Given the description of an element on the screen output the (x, y) to click on. 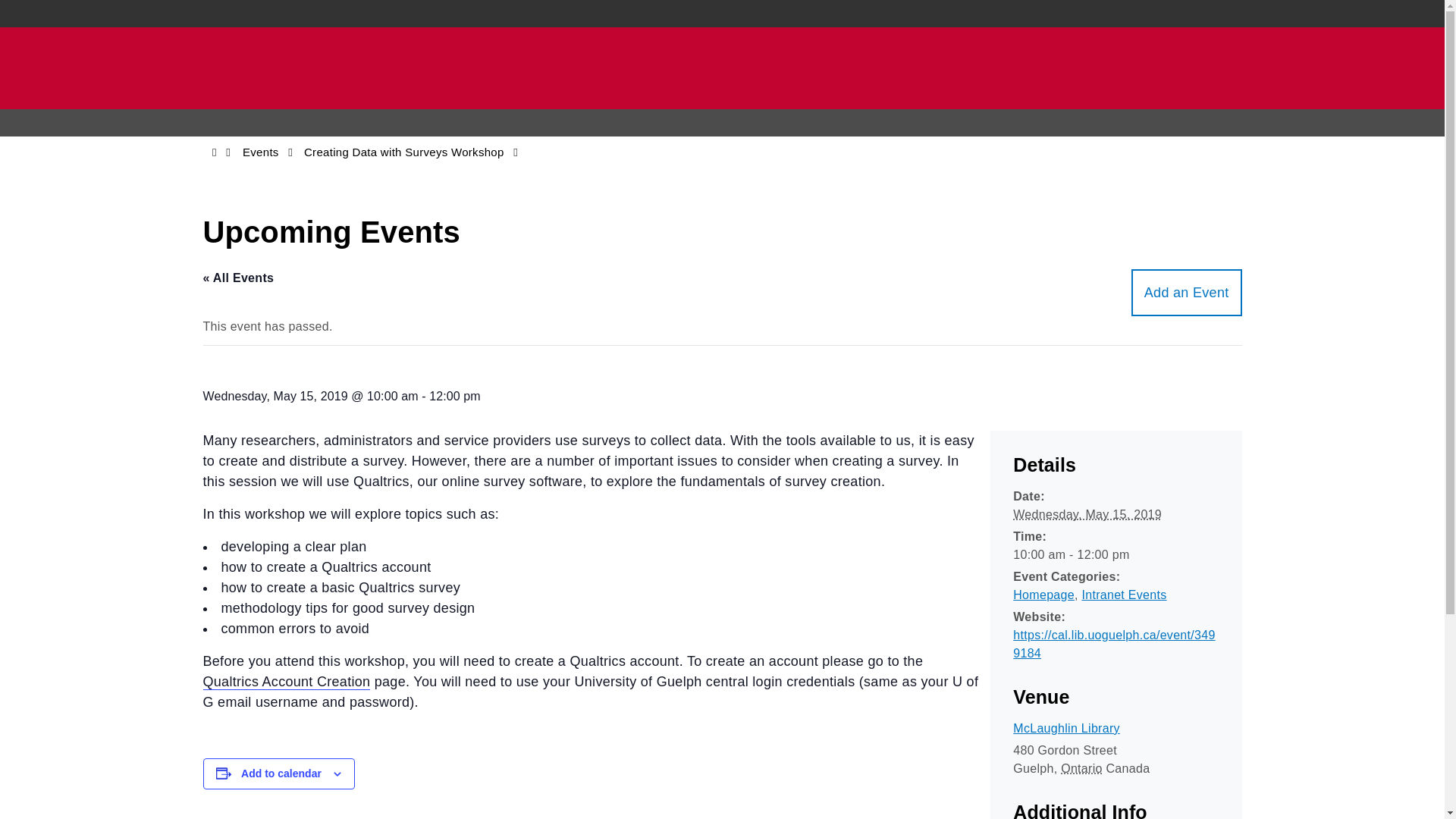
Homepage (1043, 594)
Qualtrics Account Creation (287, 682)
Events (261, 151)
Add an Event (1186, 292)
Intranet Events (1123, 594)
Add to calendar (281, 773)
McLaughlin Library (1066, 727)
